Given the description of an element on the screen output the (x, y) to click on. 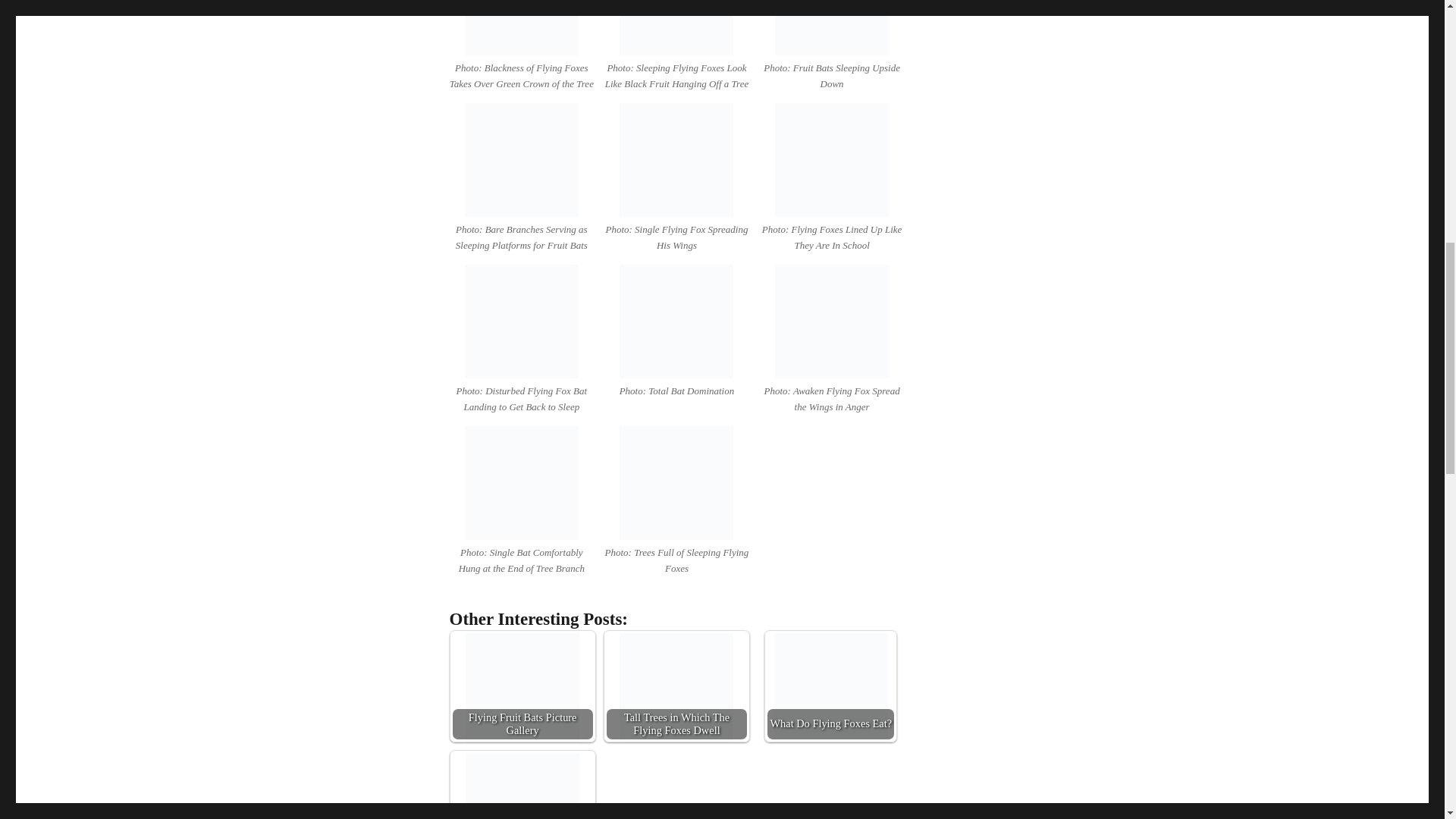
What Do Flying Foxes Eat? (831, 689)
What Do Flying Foxes Eat? (830, 686)
Flying Fruit Bats Picture Gallery (522, 689)
Tall Trees in Which The Flying Foxes Dwell (676, 689)
Tall Trees in Which The Flying Foxes Dwell (676, 686)
Flying Fruit Bats Picture Gallery (522, 686)
